Given the description of an element on the screen output the (x, y) to click on. 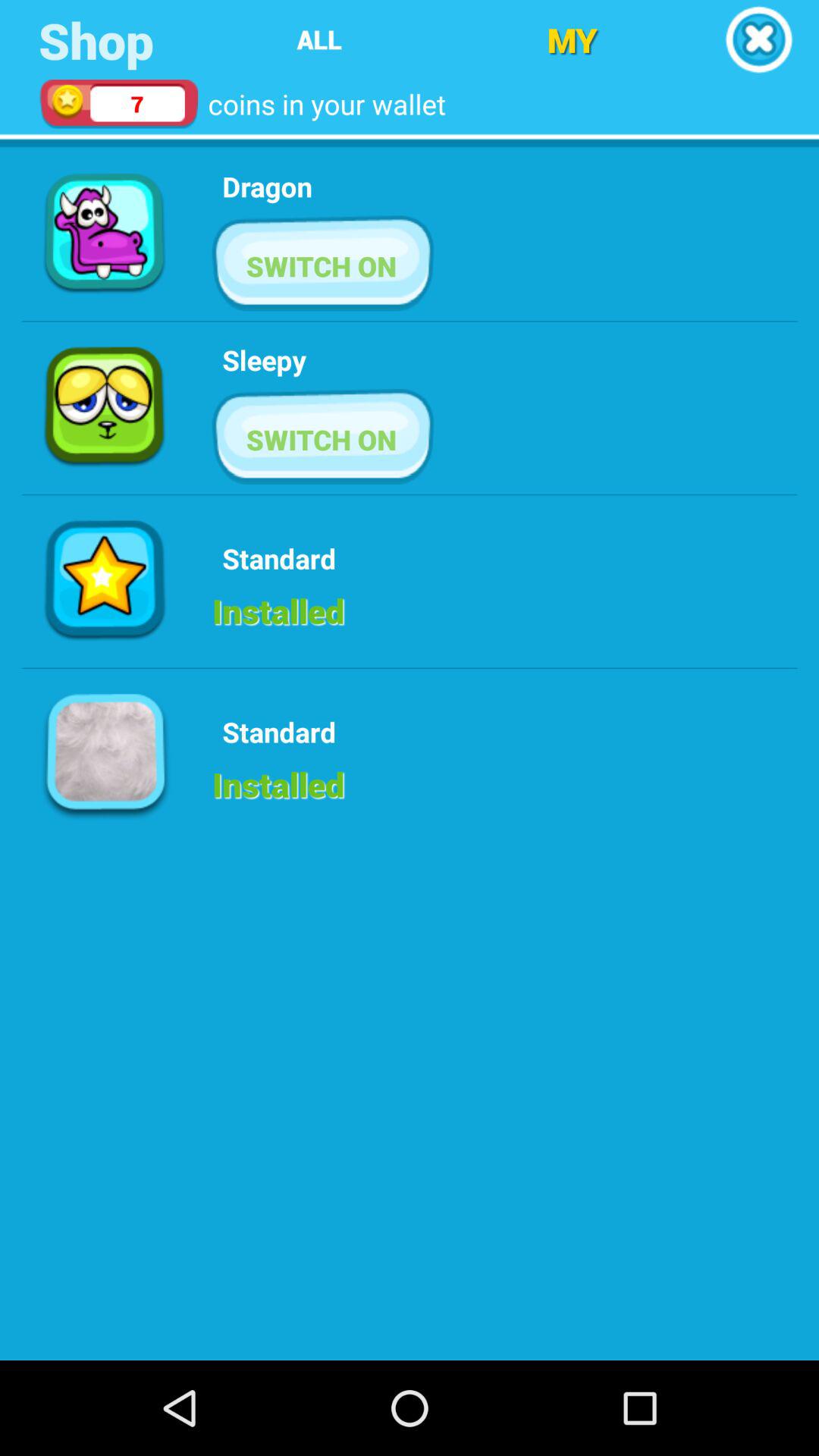
turn off the dragon item (267, 186)
